Given the description of an element on the screen output the (x, y) to click on. 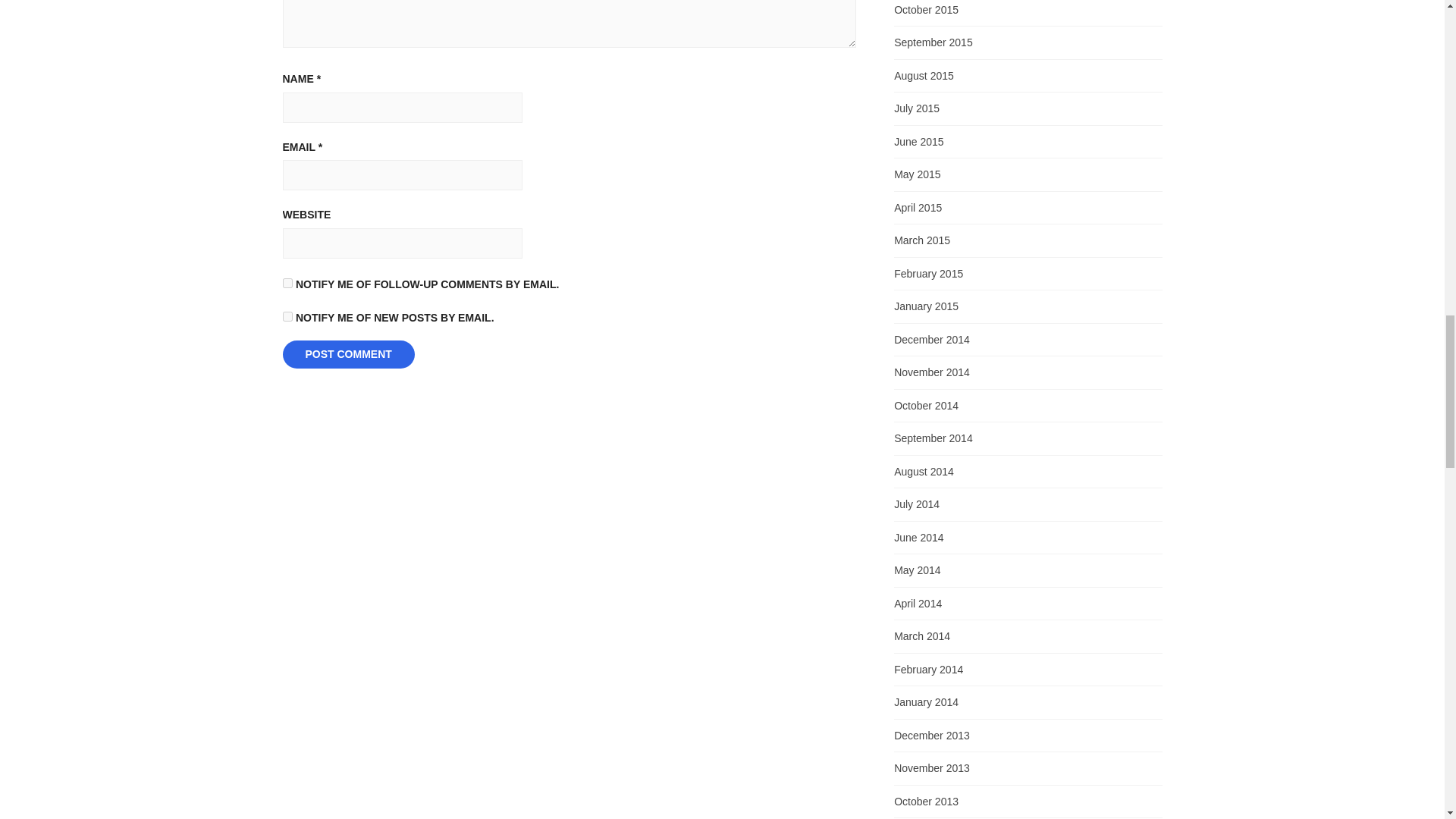
Post Comment (347, 354)
subscribe (287, 316)
Post Comment (347, 354)
subscribe (287, 283)
